Given the description of an element on the screen output the (x, y) to click on. 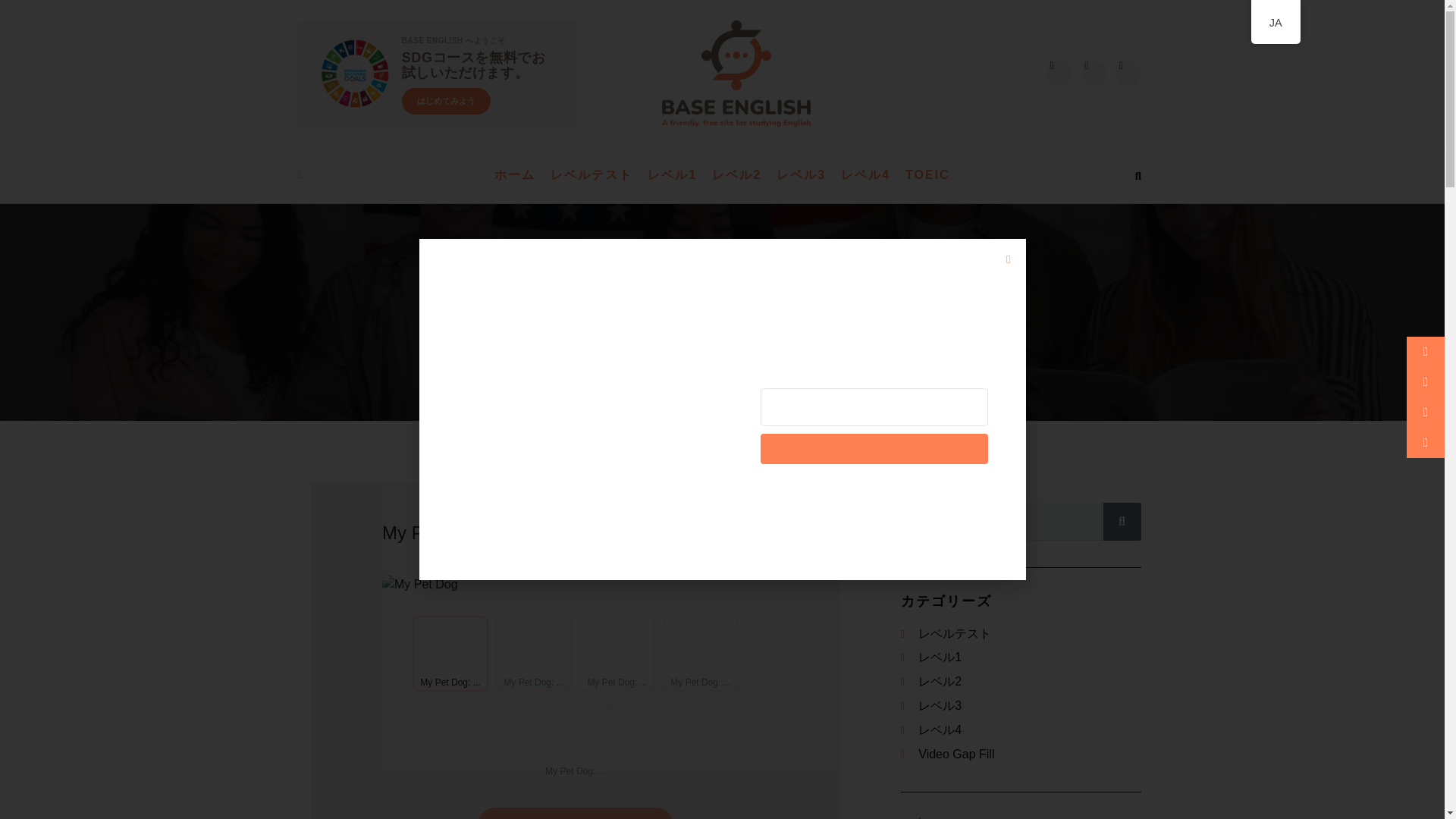
TOEIC (928, 175)
Base English (672, 329)
Video Gap Fill (1021, 754)
